Given the description of an element on the screen output the (x, y) to click on. 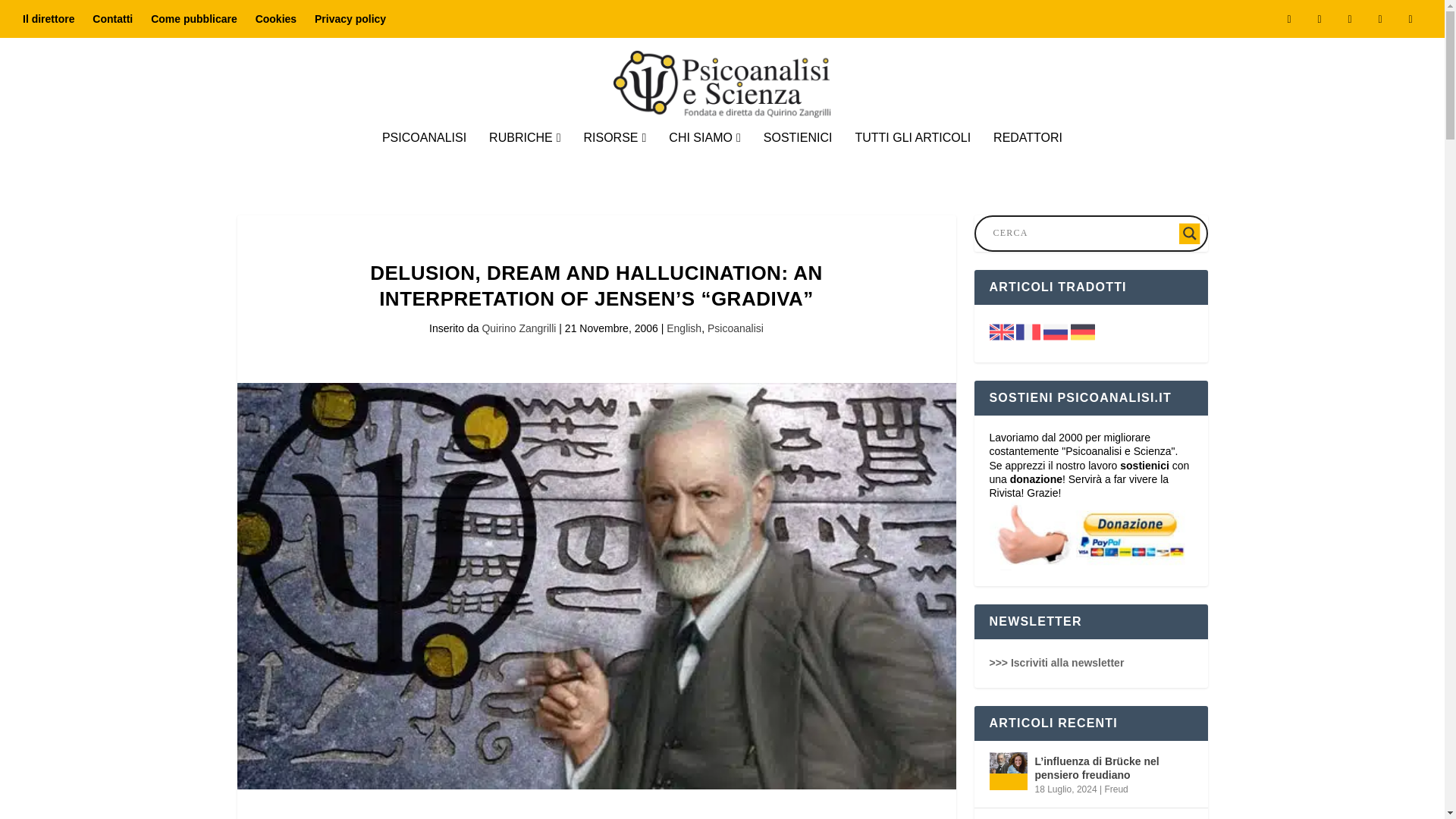
Privacy policy (349, 18)
Il direttore (48, 18)
PSICOANALISI (423, 158)
Articoli scritti da Quirino Zangrilli (518, 328)
Contatti (112, 18)
Cookies (276, 18)
RISORSE (614, 158)
RUBRICHE (524, 158)
Come pubblicare (194, 18)
